Given the description of an element on the screen output the (x, y) to click on. 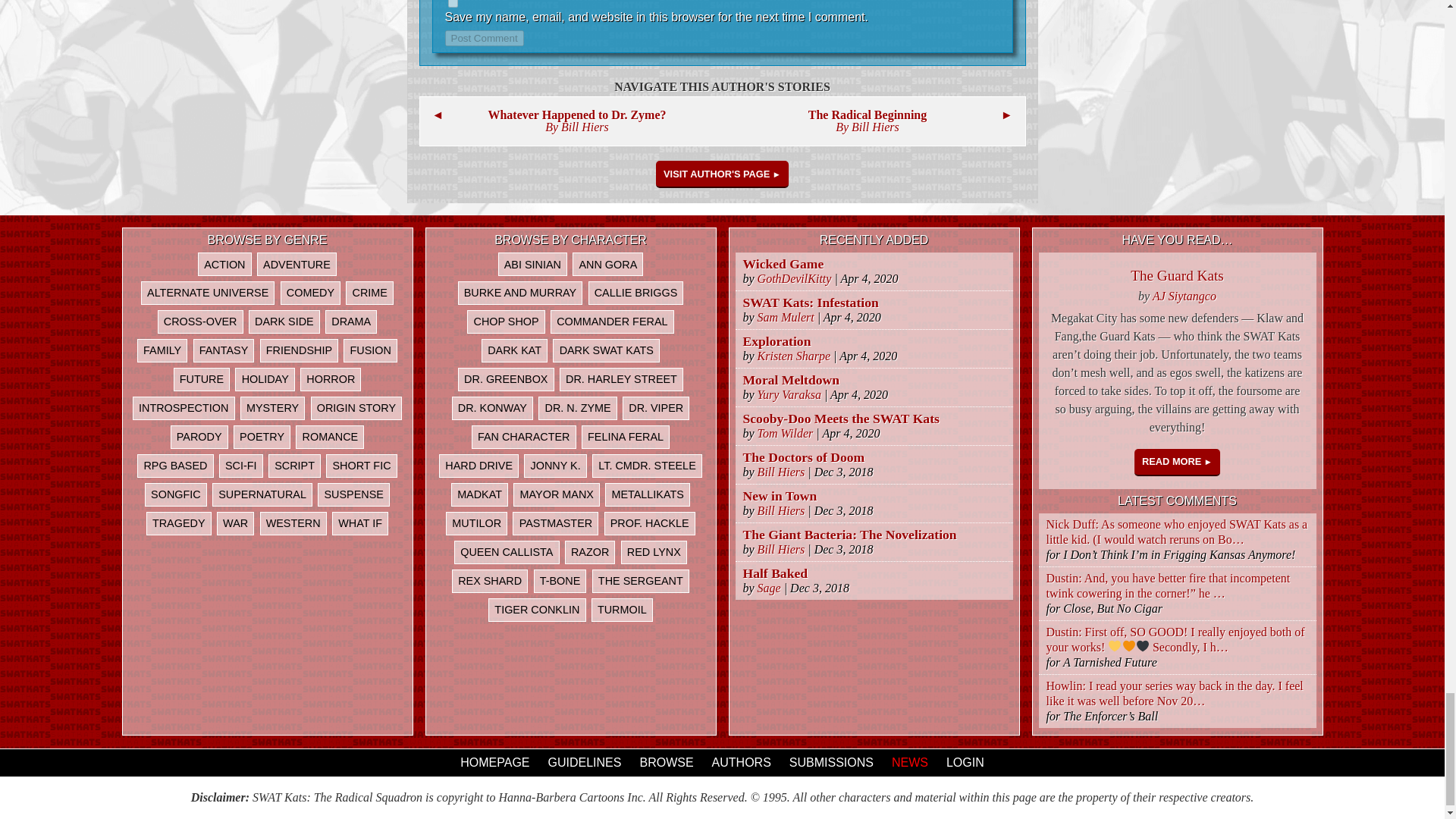
Post Comment (483, 37)
yes (451, 3)
